Given the description of an element on the screen output the (x, y) to click on. 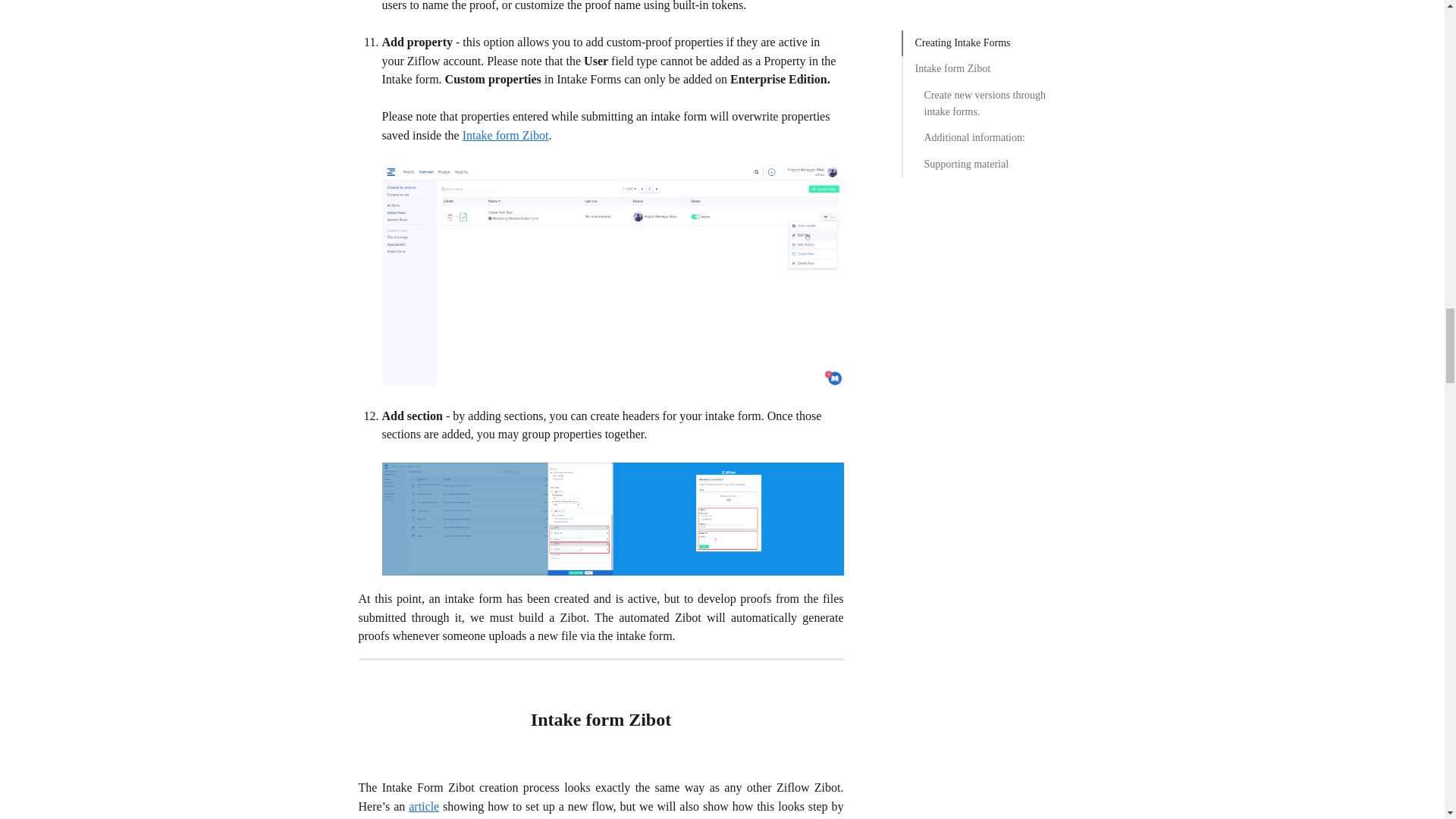
Intake form Zibot (505, 134)
article (424, 806)
